Given the description of an element on the screen output the (x, y) to click on. 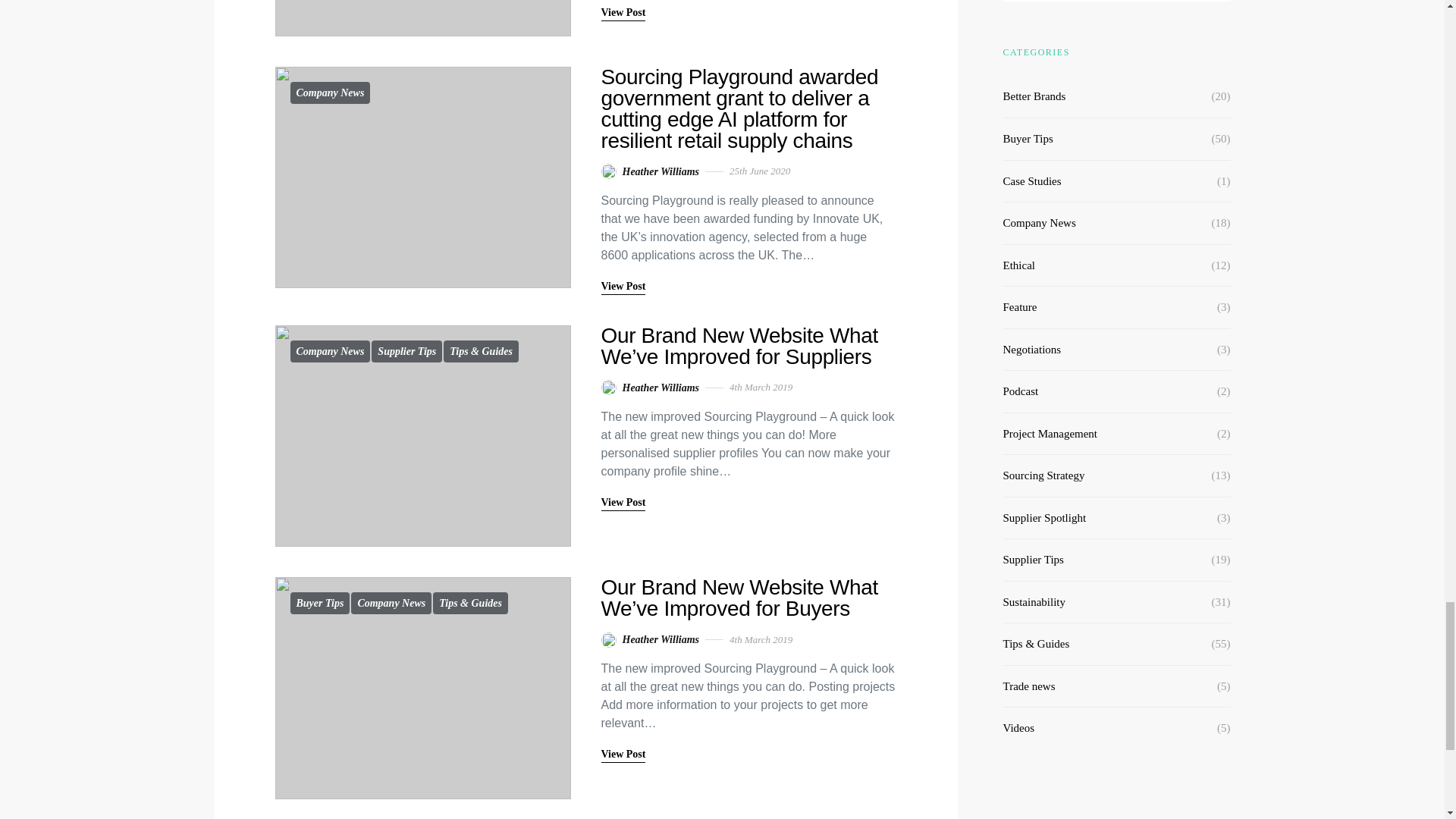
View all posts by Heather Williams (648, 171)
View all posts by Heather Williams (648, 639)
View all posts by Heather Williams (648, 387)
